Given the description of an element on the screen output the (x, y) to click on. 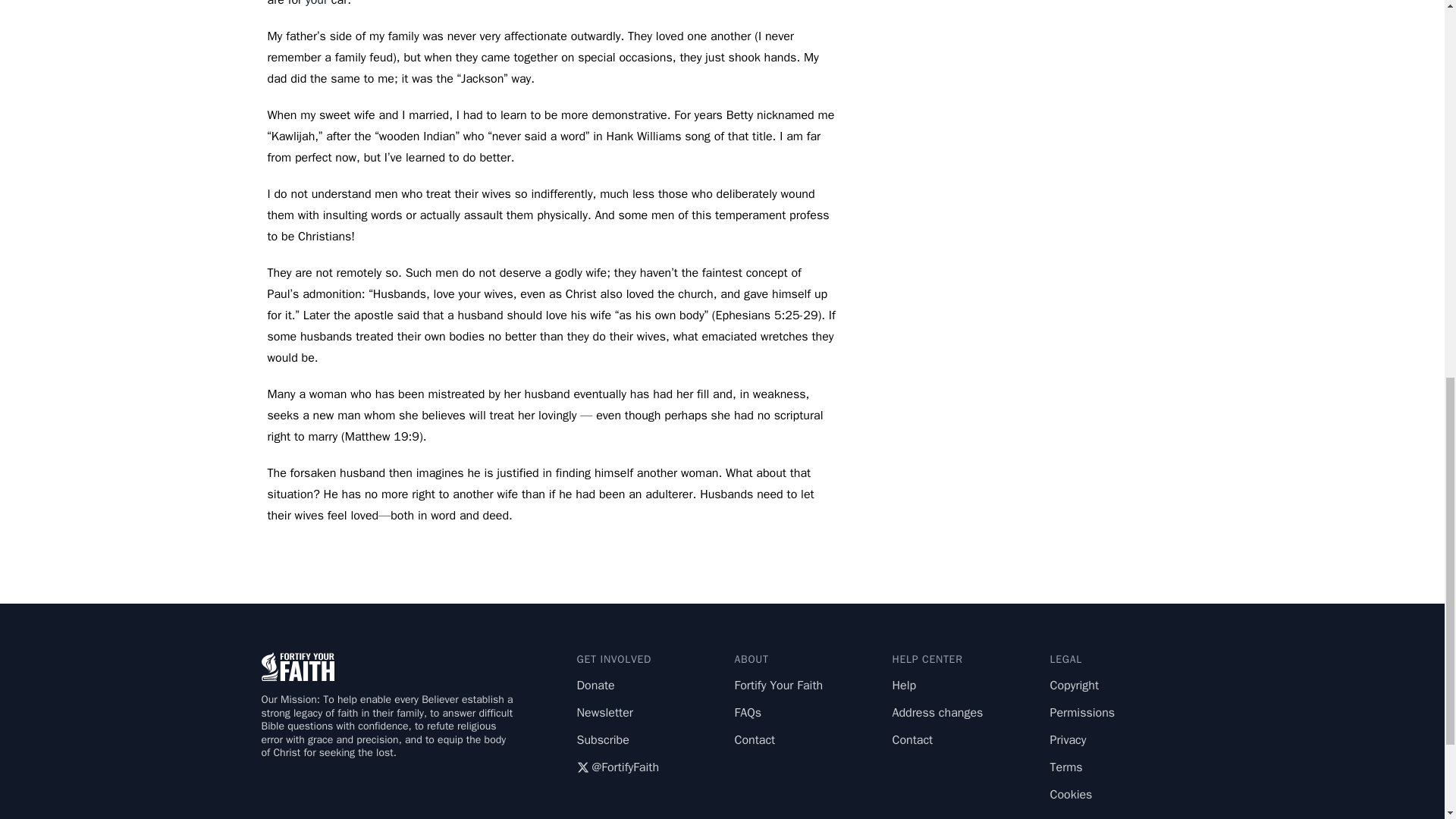
Terms (1065, 767)
Contact (753, 739)
Copyright (1074, 685)
Privacy (1067, 739)
Contact (912, 739)
Subscribe (602, 739)
Cookies (1070, 794)
Donate (595, 685)
Permissions (1082, 712)
Fortify Your Faith (777, 685)
